Given the description of an element on the screen output the (x, y) to click on. 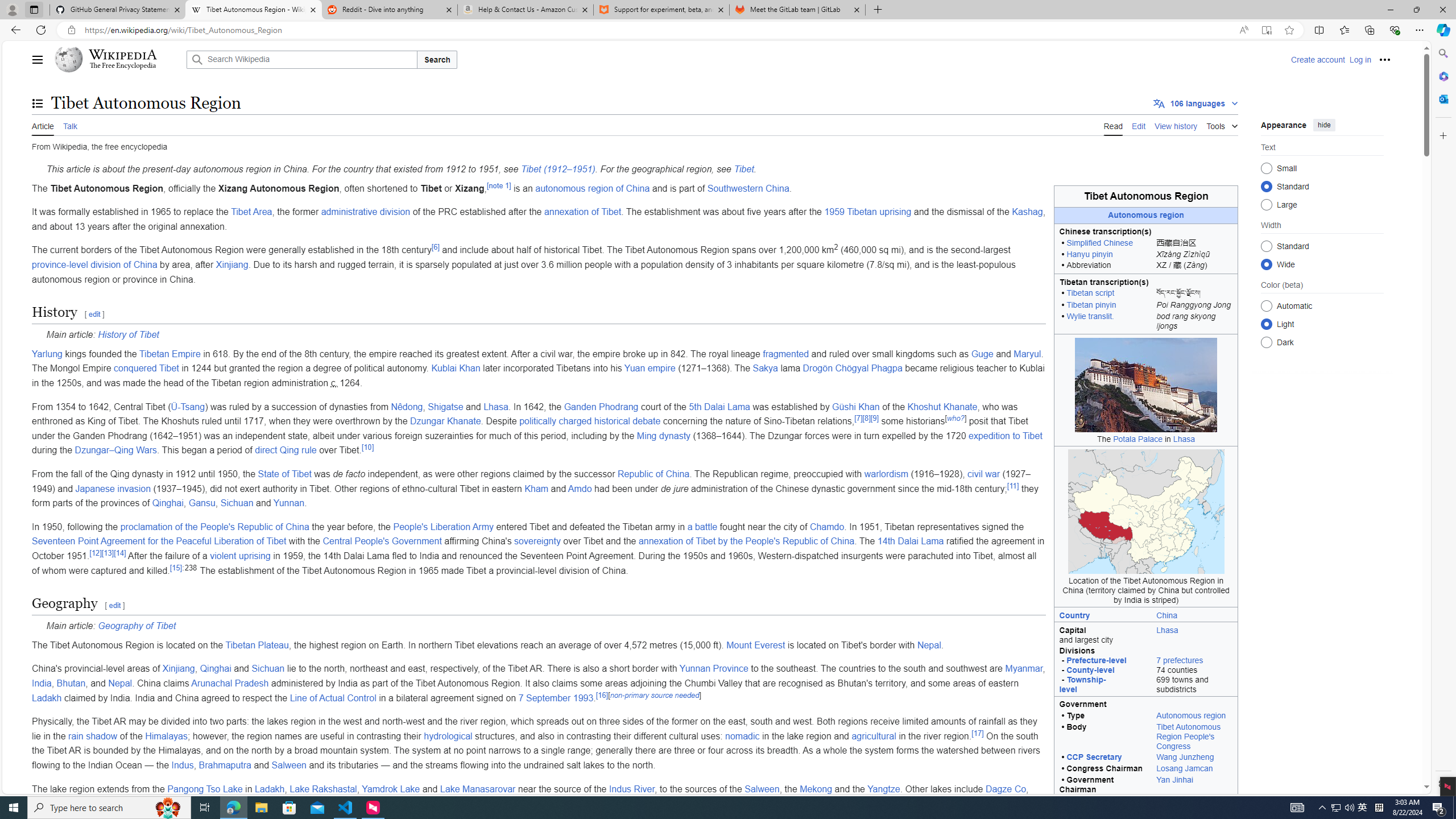
Personal tools (1384, 59)
The Potala Palace in Lhasa (1145, 384)
Autonomous region (1194, 716)
Class: mergedbottomrow (1145, 322)
View history (1176, 124)
Class: mergedtoprow (1145, 703)
Small (1266, 167)
Search Wikipedia (301, 59)
Log in (1360, 58)
Simplified Chinese (1098, 243)
Shigatse (445, 406)
Dagze Co (1005, 788)
